Given the description of an element on the screen output the (x, y) to click on. 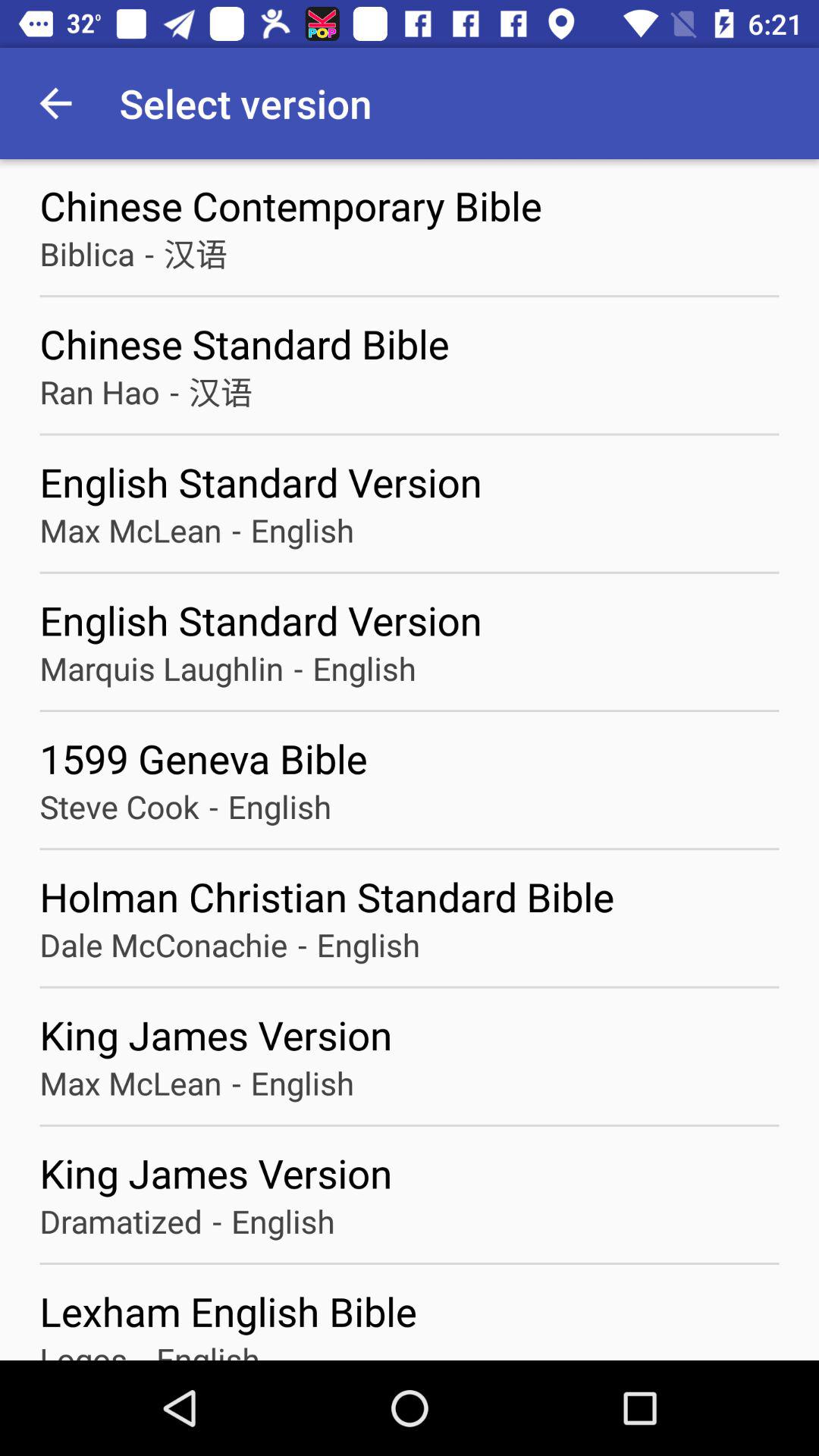
choose the item below the chinese contemporary bible icon (195, 253)
